Given the description of an element on the screen output the (x, y) to click on. 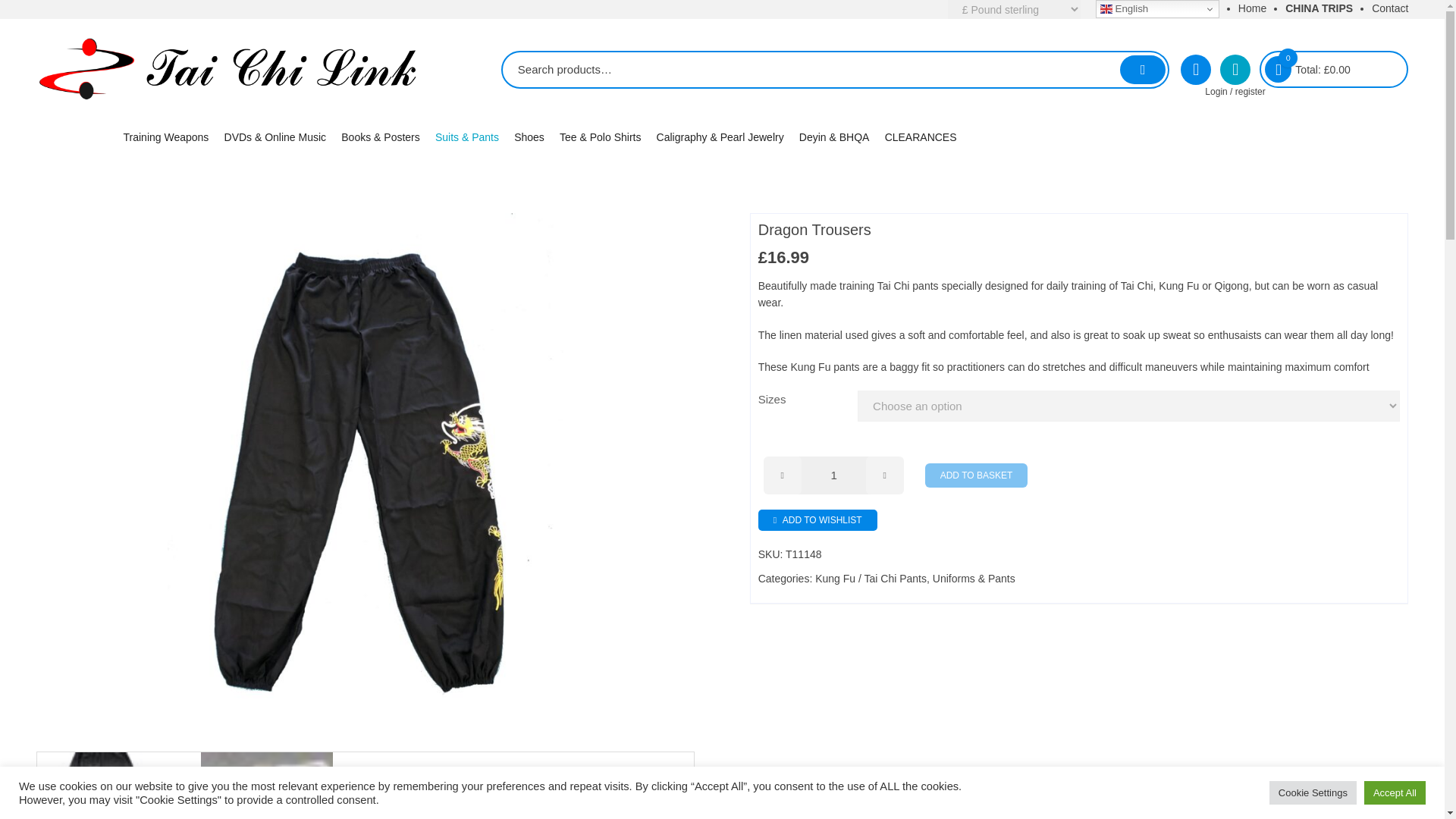
0 (1278, 69)
1 (834, 475)
Basket (1333, 68)
Long Weapons (217, 213)
Zhao Bao Style (501, 262)
Sun Style (501, 238)
Straight Sword (217, 164)
CHINA TRIPS (1318, 8)
Yang Style (501, 188)
Weapon Accessories (217, 288)
Home (1252, 8)
Tai Chi (312, 164)
Training Weapons (168, 137)
English (1158, 9)
Contact (1389, 8)
